Given the description of an element on the screen output the (x, y) to click on. 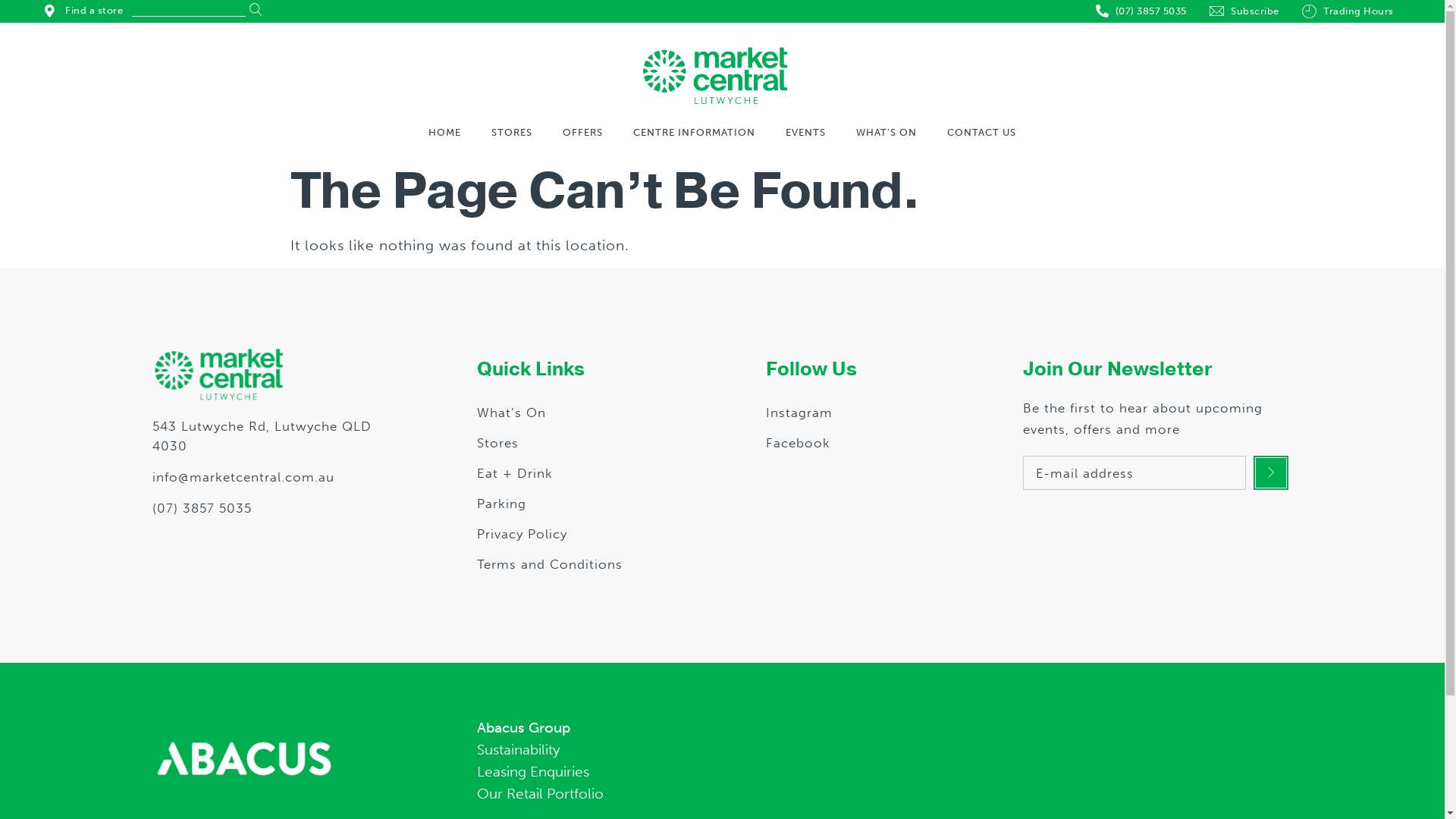
Privacy Policy Element type: text (521, 533)
EVENTS Element type: text (805, 132)
Trading Hours Element type: text (1347, 10)
CENTRE INFORMATION Element type: text (693, 132)
info@marketcentral.com.au Element type: text (273, 477)
(07) 3857 5035 Element type: text (1140, 10)
Stores Element type: text (497, 442)
STORES Element type: text (511, 132)
Sustainability Element type: text (870, 750)
(07) 3857 5035 Element type: text (273, 508)
Our Retail Portfolio Element type: text (870, 794)
Abacus Group Element type: text (870, 728)
HOME Element type: text (443, 132)
OFFERS Element type: text (582, 132)
CONTACT US Element type: text (980, 132)
Facebook Element type: text (797, 442)
Subscribe Element type: text (1244, 10)
Instagram Element type: text (798, 412)
Parking Element type: text (501, 503)
Leasing Enquiries Element type: text (870, 772)
Eat + Drink Element type: text (514, 473)
Terms and Conditions Element type: text (549, 564)
